Given the description of an element on the screen output the (x, y) to click on. 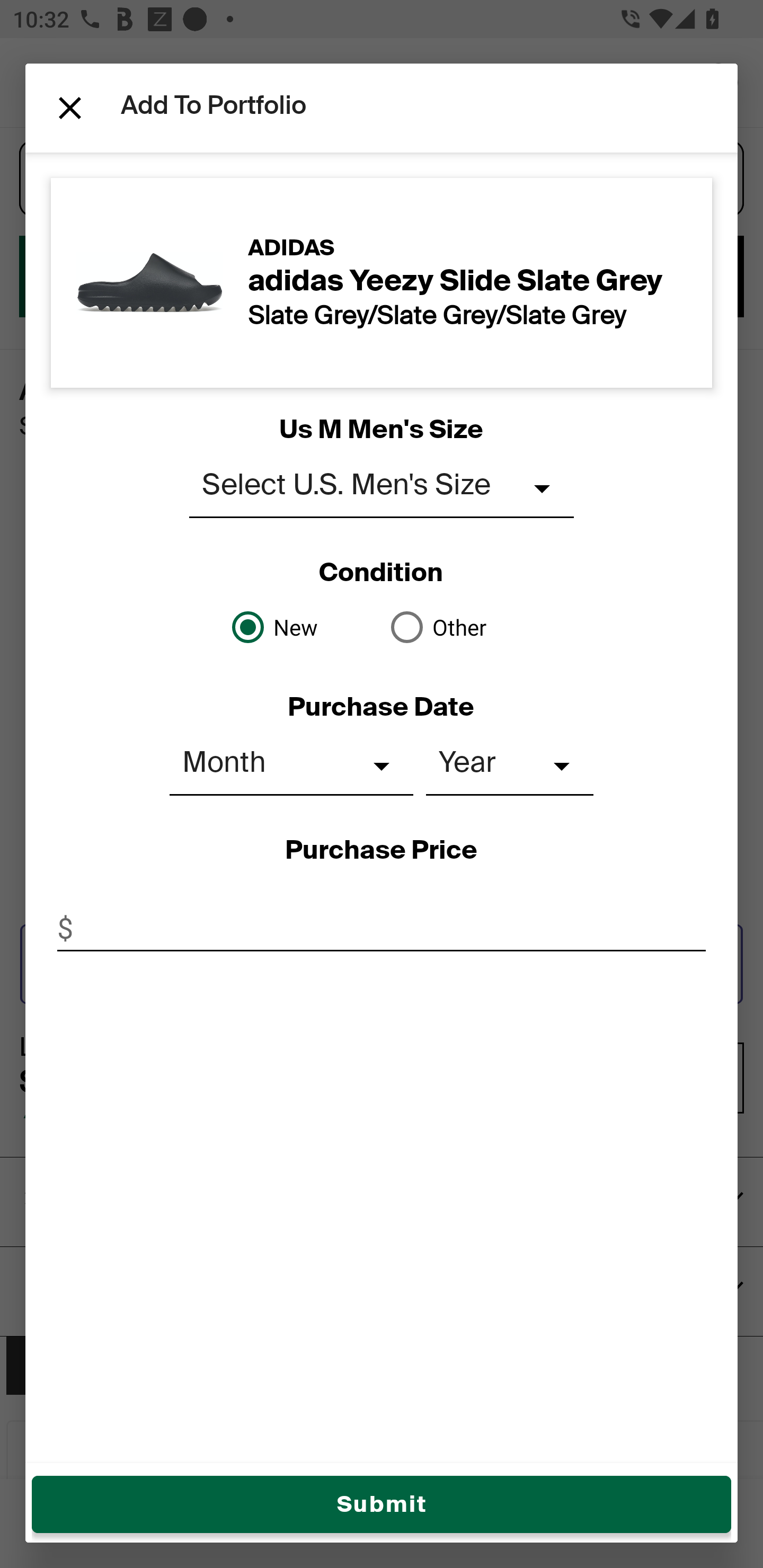
Select U.S. Men's Size (381, 488)
New (301, 626)
Other (460, 626)
Month (291, 765)
Year (509, 765)
$ (381, 928)
Submit (381, 1504)
